Given the description of an element on the screen output the (x, y) to click on. 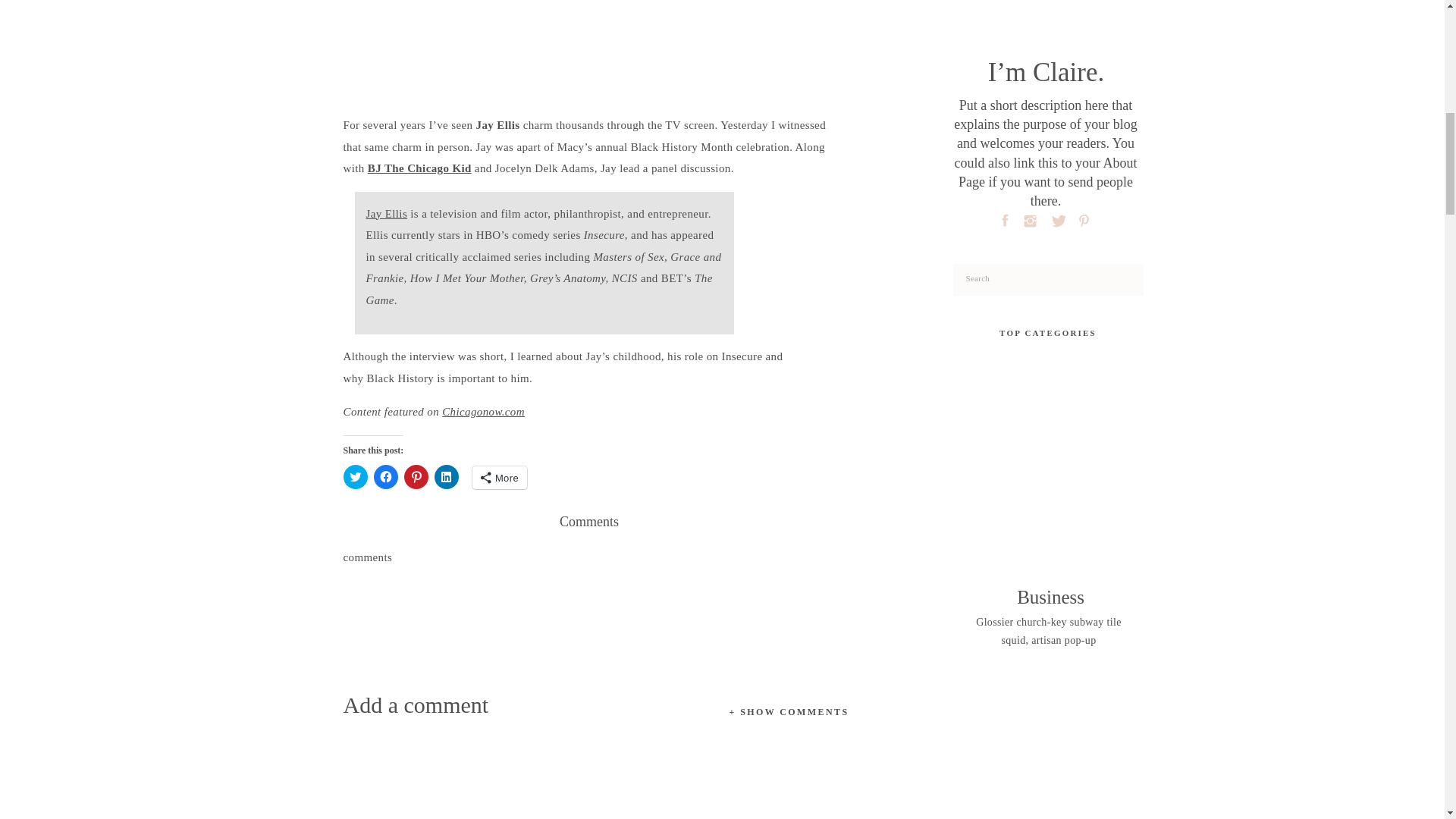
Click to share on Twitter (354, 476)
Click to share on Facebook (384, 476)
Chicagonow.com (483, 411)
Jay Ellis (386, 214)
More (499, 477)
 Business (1048, 597)
Click to share on LinkedIn (445, 476)
Click to share on Pinterest (415, 476)
BJ The Chicago Kid (419, 168)
Glossier church-key subway tile squid, artisan pop-up (1049, 632)
